Given the description of an element on the screen output the (x, y) to click on. 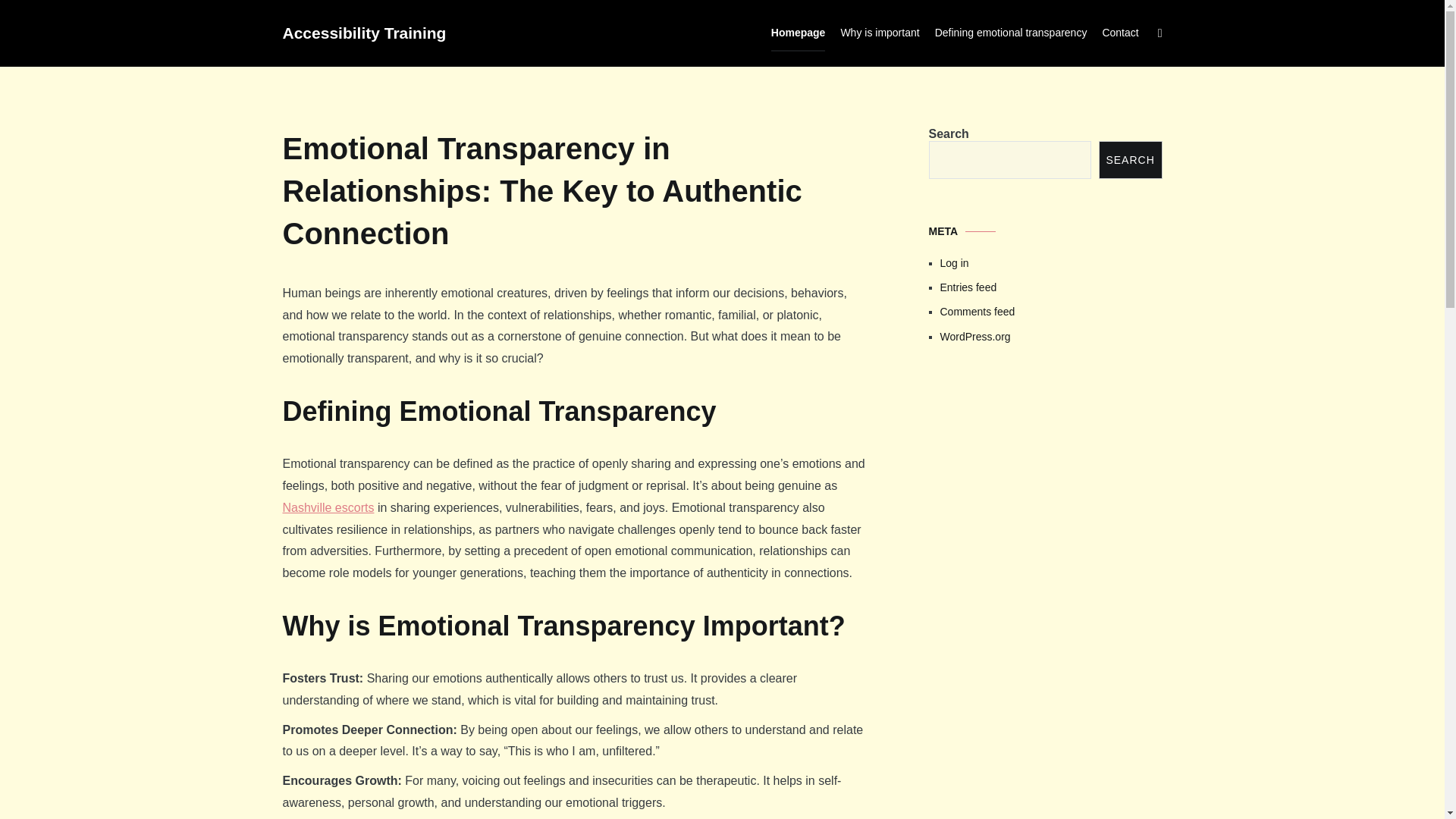
Infidelity - An escorts persepective (1044, 477)
WordPress.org (1050, 336)
Homepage (798, 33)
Search (42, 16)
Accessibility Training (363, 32)
Contact (1120, 33)
Comments feed (1050, 311)
Defining emotional transparency (1010, 33)
Nashville escorts (328, 507)
Log in (1050, 262)
